Given the description of an element on the screen output the (x, y) to click on. 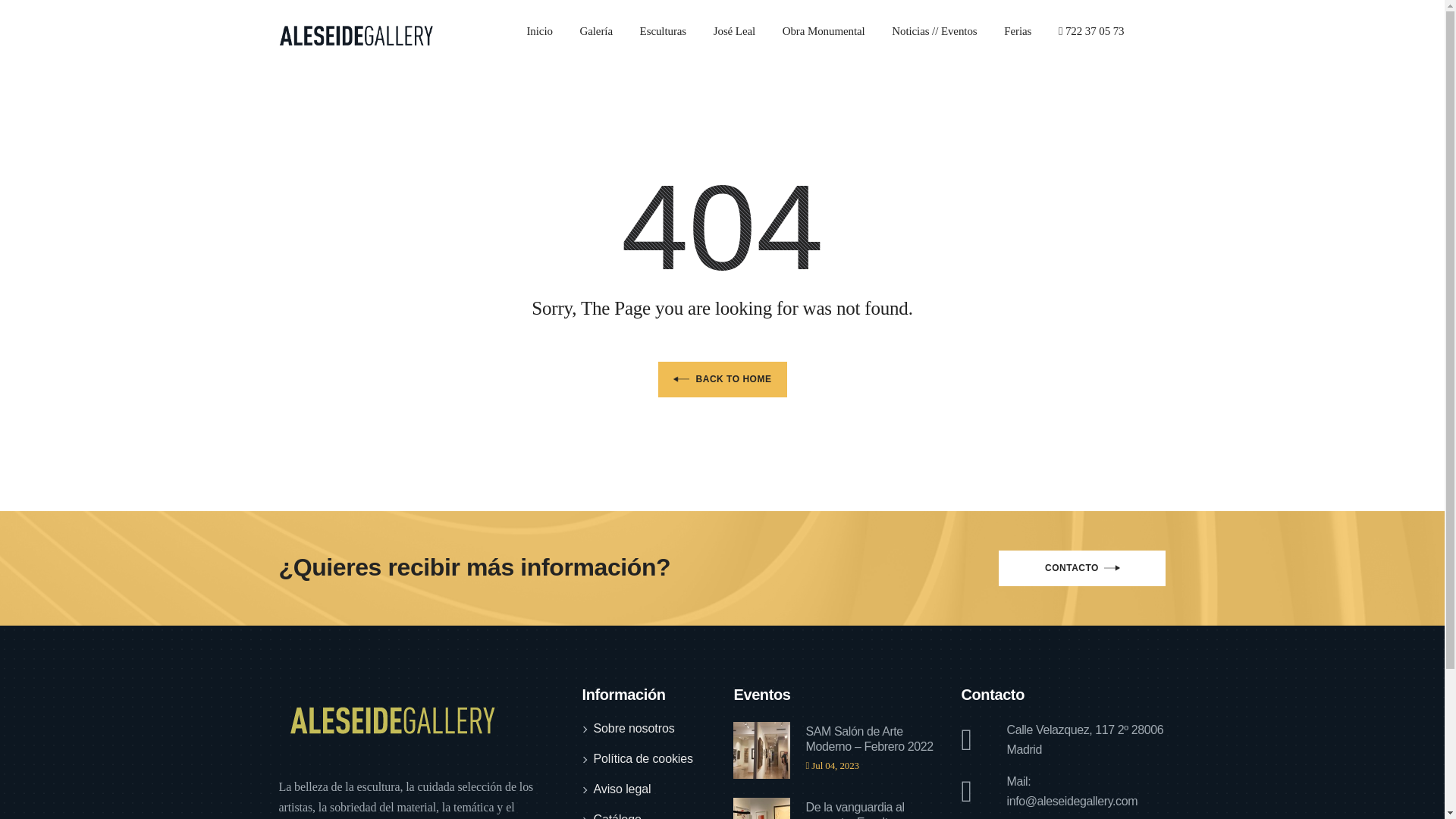
Sobre nosotros (633, 728)
Obra Monumental (836, 32)
CONTACTO (1082, 568)
Aviso legal (621, 789)
Esculturas (675, 32)
BACK TO HOME (722, 379)
722 37 05 73 (1102, 32)
